Given the description of an element on the screen output the (x, y) to click on. 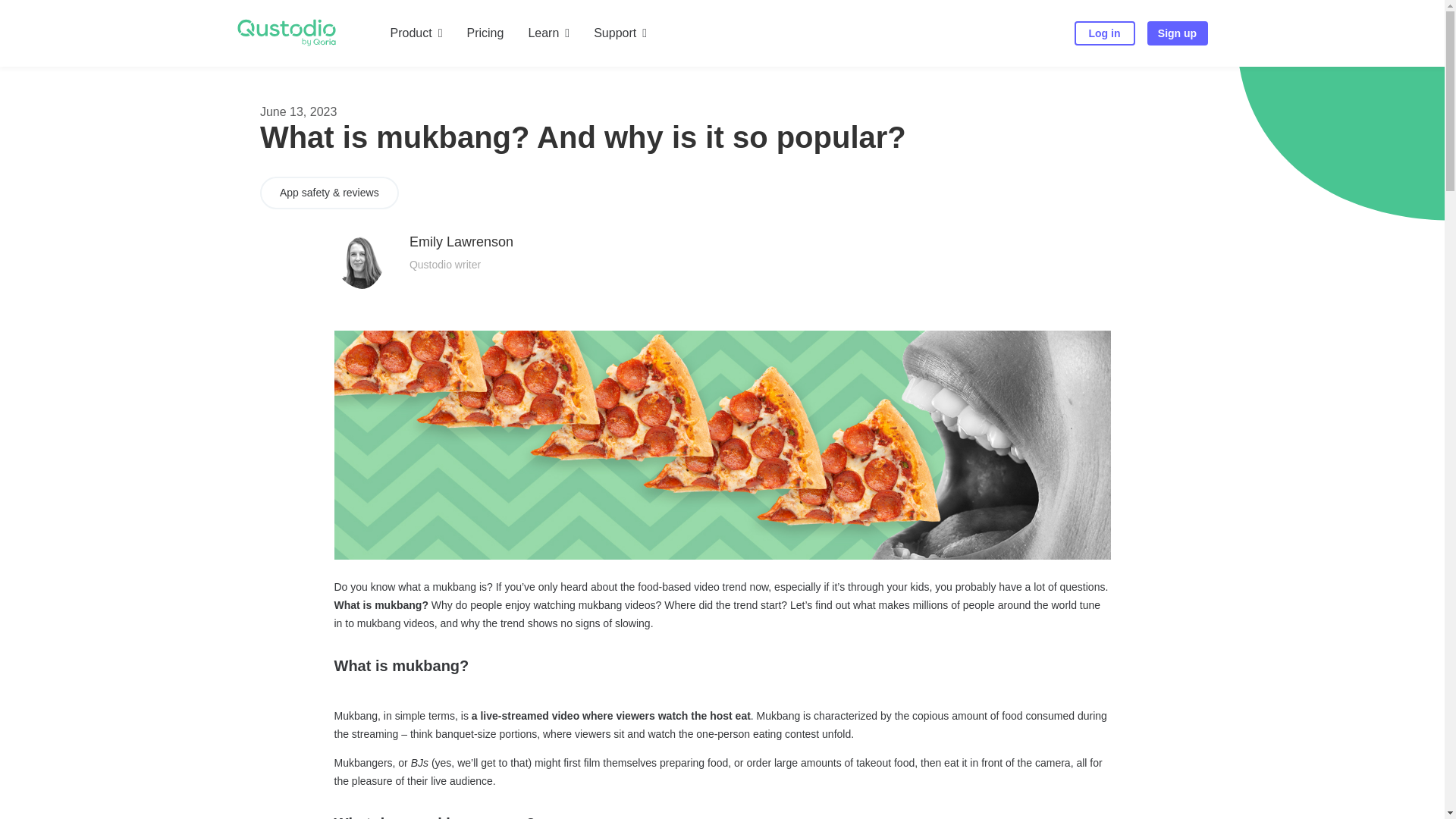
Help center (397, 90)
Support (619, 42)
Why Qustodio (254, 90)
Sign up (1177, 33)
Pricing (484, 42)
Learn (547, 42)
Product (415, 42)
Product tips (244, 90)
Log in (1104, 33)
